Given the description of an element on the screen output the (x, y) to click on. 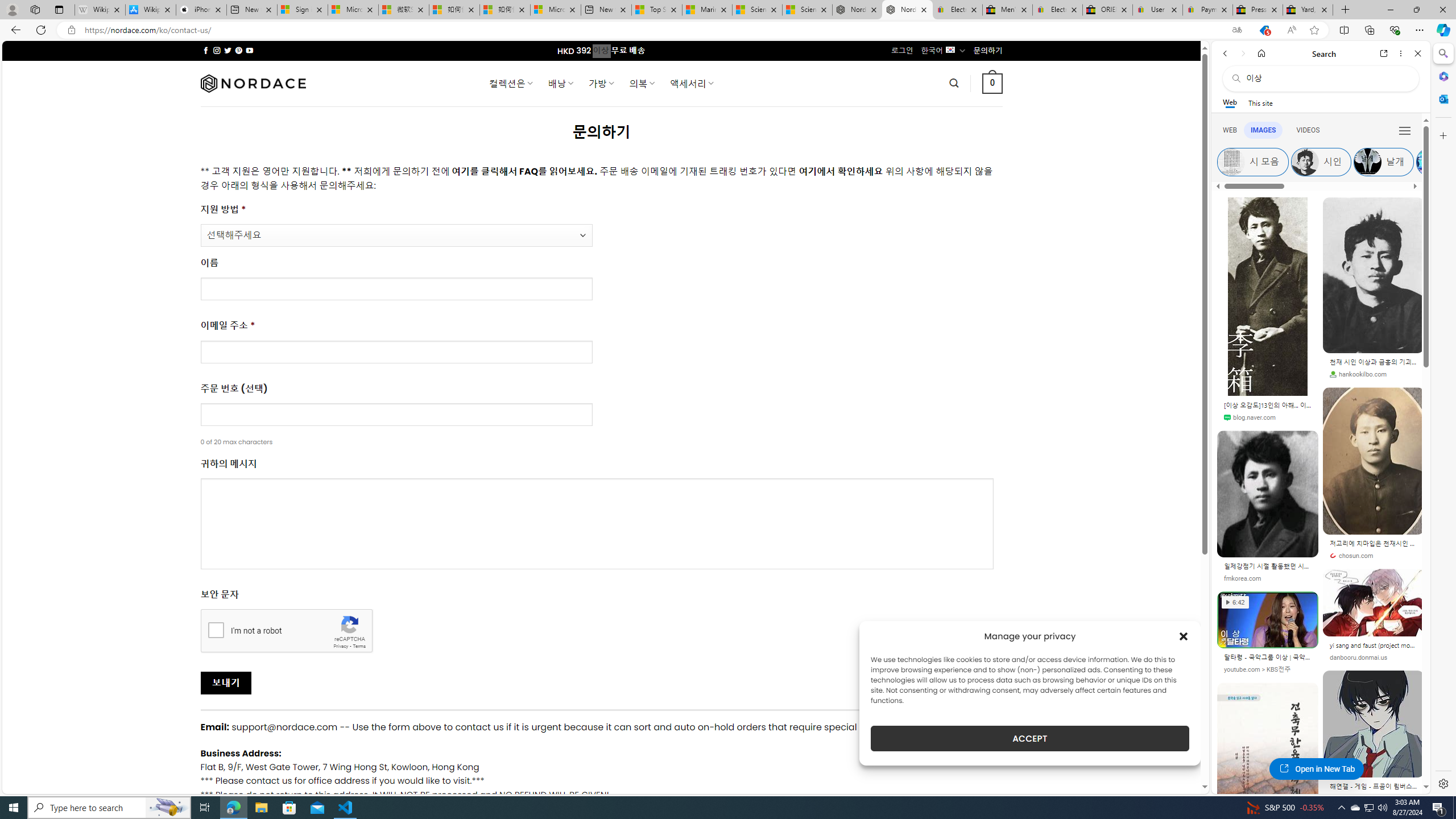
fmkorea.com (1267, 578)
ACCEPT (1029, 738)
